Given the description of an element on the screen output the (x, y) to click on. 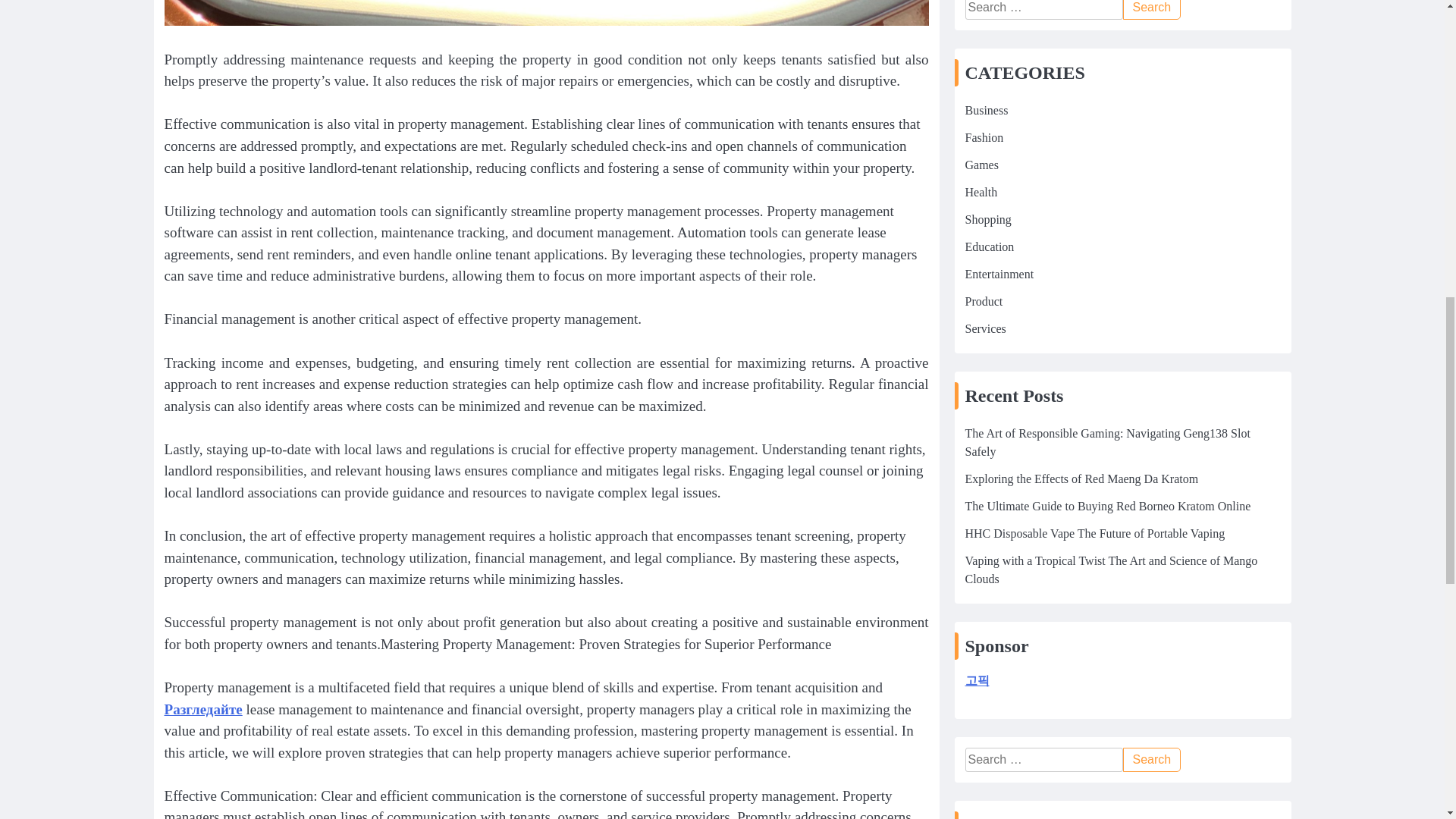
Shopping (986, 302)
Search (1151, 90)
Business (985, 193)
Search (1151, 90)
Search (1151, 90)
Health (980, 275)
Games (980, 247)
Fashion (983, 220)
